Given the description of an element on the screen output the (x, y) to click on. 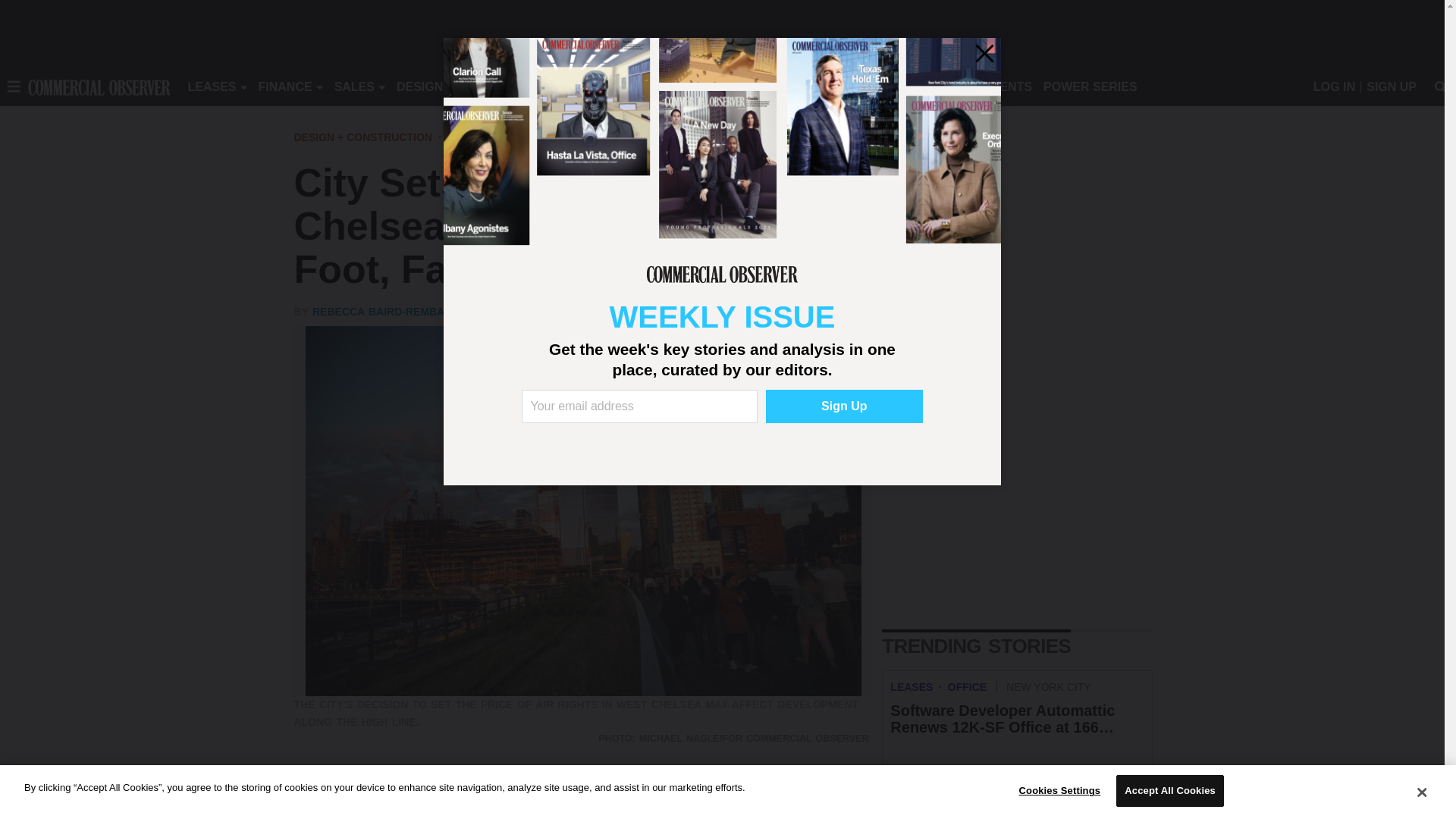
Share on Facebook (307, 789)
Share on LinkedIn (368, 789)
LEASES (211, 86)
SALES (354, 86)
Posts by Rebecca Baird-Remba (378, 311)
FINANCE (286, 86)
Commercial Observer Home (98, 86)
TECHNOLOGY (619, 86)
MORE (691, 86)
Tweet (338, 789)
Send email (398, 789)
